Given the description of an element on the screen output the (x, y) to click on. 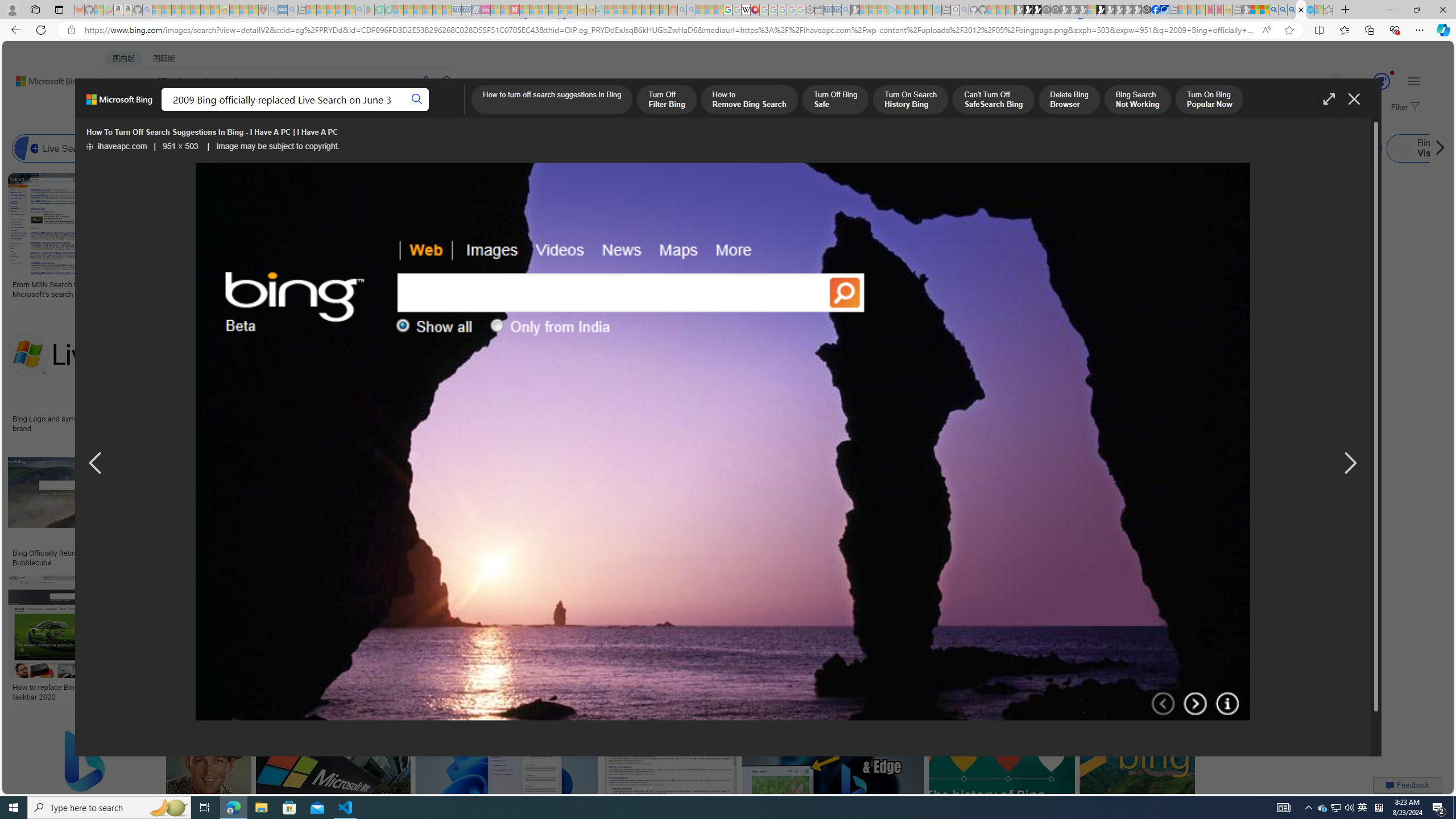
Bing (2009) (RARE/FAKE) - YouTube (925, 552)
ACADEMIC (360, 111)
Bing Search Not Working (1136, 100)
Local - MSN - Sleeping (253, 9)
Bing Word Search (403, 148)
Bluey: Let's Play! - Apps on Google Play - Sleeping (369, 9)
WEB (114, 111)
How to replace Bing in Windows 10 search on the taskbar 2020 (93, 691)
